Given the description of an element on the screen output the (x, y) to click on. 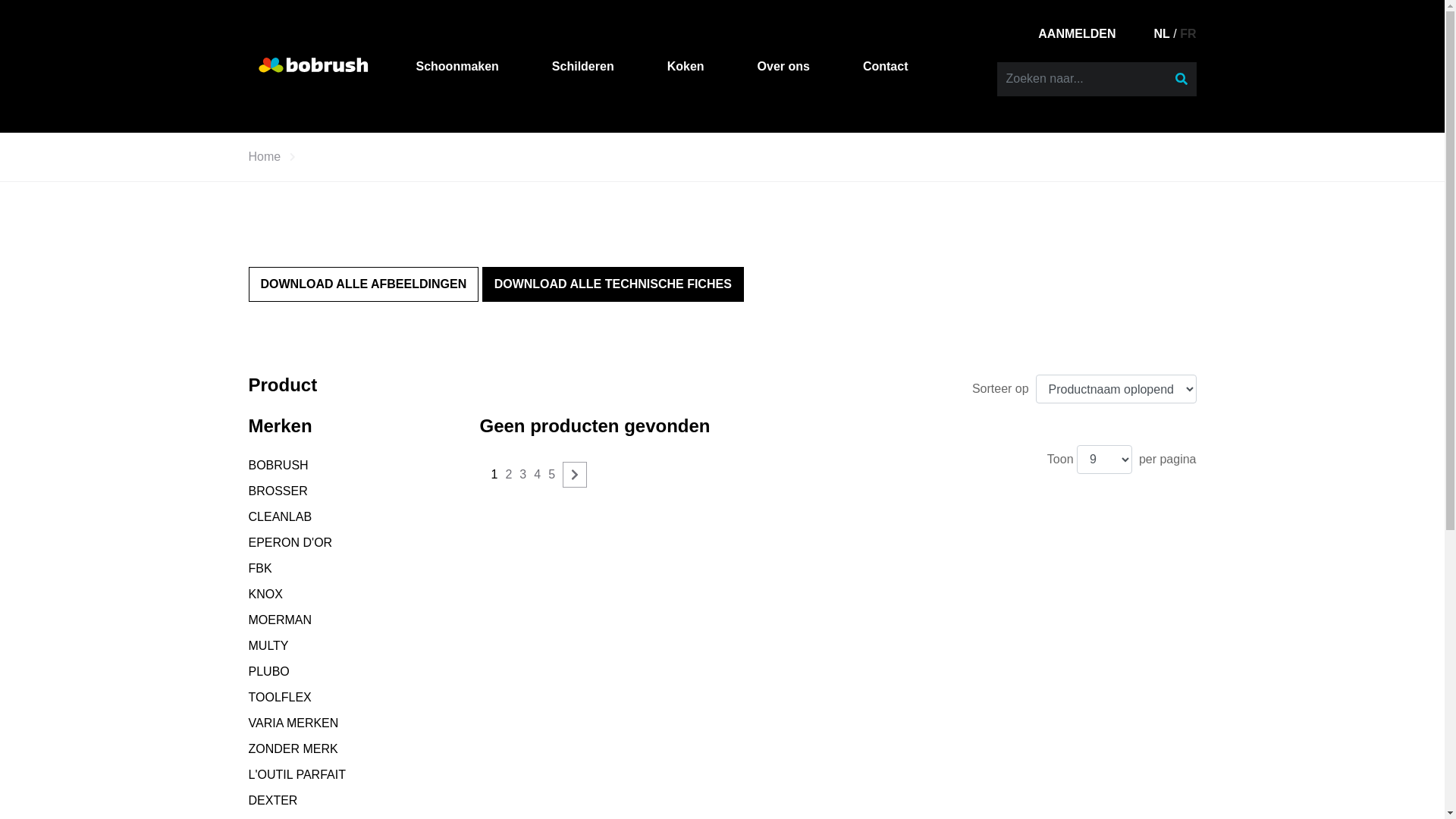
Over ons Element type: text (783, 66)
L'OUTIL PARFAIT Element type: text (296, 774)
NL Element type: text (1162, 33)
2 Element type: text (508, 473)
Koken Element type: text (685, 66)
BOBRUSH Element type: text (278, 465)
FBK Element type: text (260, 568)
DEXTER Element type: text (273, 800)
FR Element type: text (1187, 33)
MULTY Element type: text (268, 646)
DOWNLOAD ALLE TECHNISCHE FICHES Element type: text (612, 283)
MOERMAN Element type: text (280, 620)
Schoonmaken Element type: text (456, 66)
KNOX Element type: text (265, 594)
1 Element type: text (494, 473)
Schilderen Element type: text (583, 66)
Home Element type: text (264, 156)
PLUBO Element type: text (268, 671)
5 Element type: text (551, 473)
BROSSER Element type: text (277, 491)
Contact Element type: text (885, 66)
4 Element type: text (536, 473)
3 Element type: text (522, 473)
CLEANLAB Element type: text (280, 517)
TOOLFLEX Element type: text (279, 697)
VARIA MERKEN Element type: text (293, 723)
ZONDER MERK Element type: text (293, 749)
AANMELDEN Element type: text (1076, 33)
DOWNLOAD ALLE AFBEELDINGEN Element type: text (363, 283)
EPERON D'OR Element type: text (290, 542)
